Given the description of an element on the screen output the (x, y) to click on. 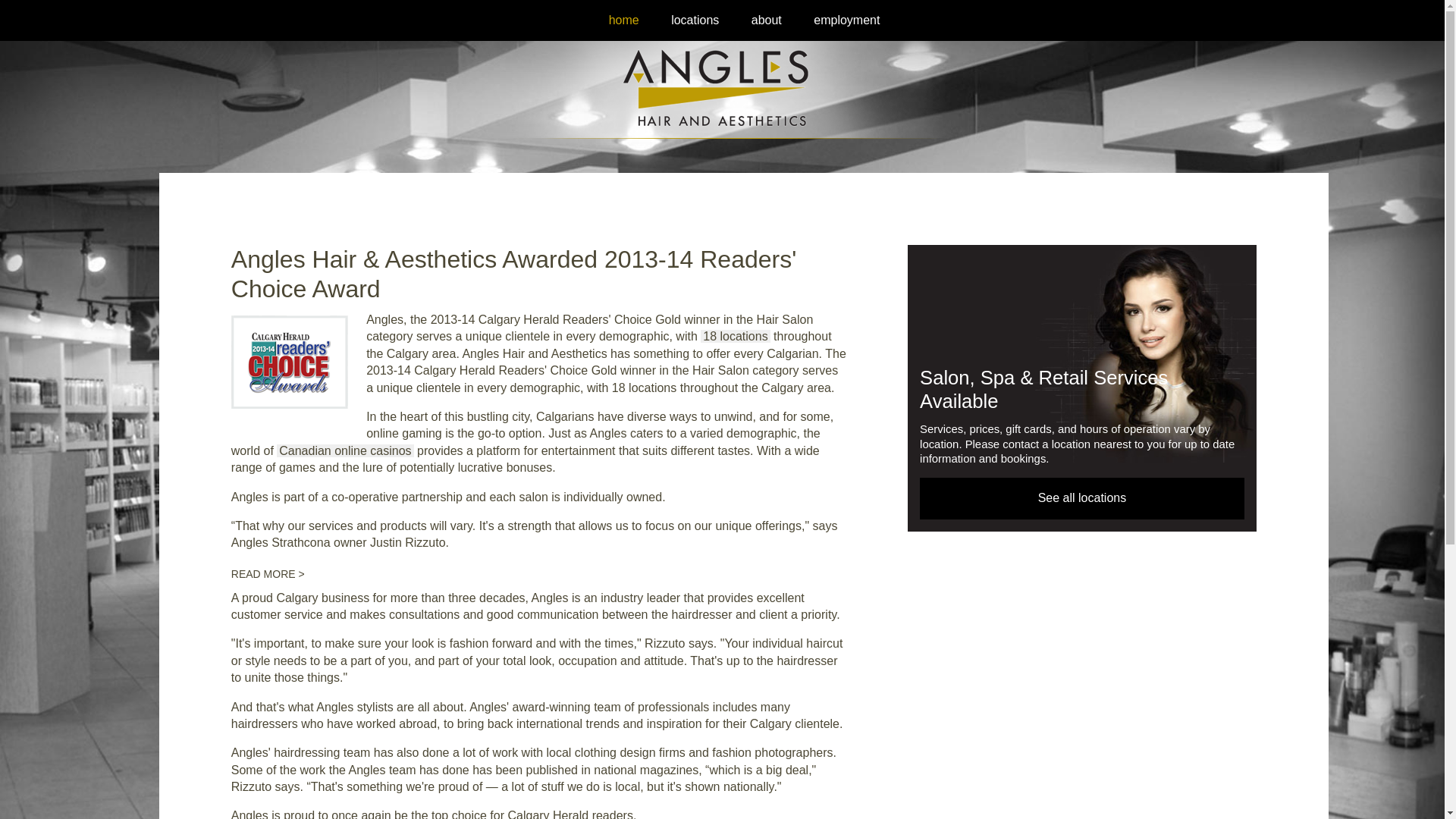
locations Element type: text (694, 19)
See all locations Element type: text (1081, 497)
employment Element type: text (846, 19)
Canadian online casinos Element type: text (344, 450)
about Element type: text (766, 19)
18 locations Element type: text (734, 335)
home Element type: text (623, 19)
